Given the description of an element on the screen output the (x, y) to click on. 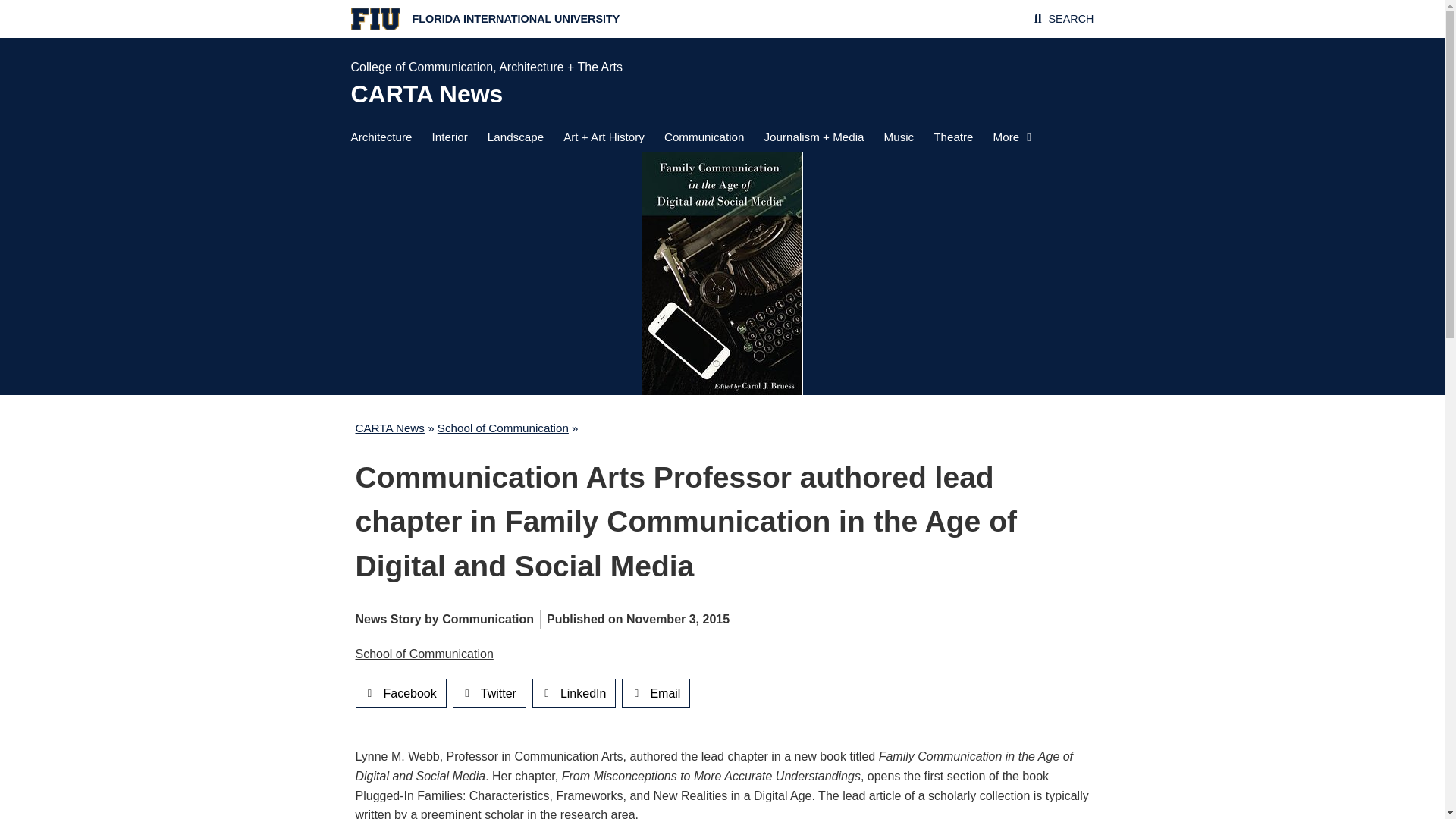
School of Communication (503, 427)
FLORIDA INTERNATIONAL UNIVERSITY (516, 19)
CARTA News (426, 93)
CARTA News (389, 427)
Landscape (515, 136)
SEARCH (1071, 19)
Music (898, 136)
More (1011, 136)
School of Communication (424, 653)
Interior (449, 136)
Architecture (381, 136)
Theatre (952, 136)
Communication (703, 136)
News Story by Communication (444, 619)
